Given the description of an element on the screen output the (x, y) to click on. 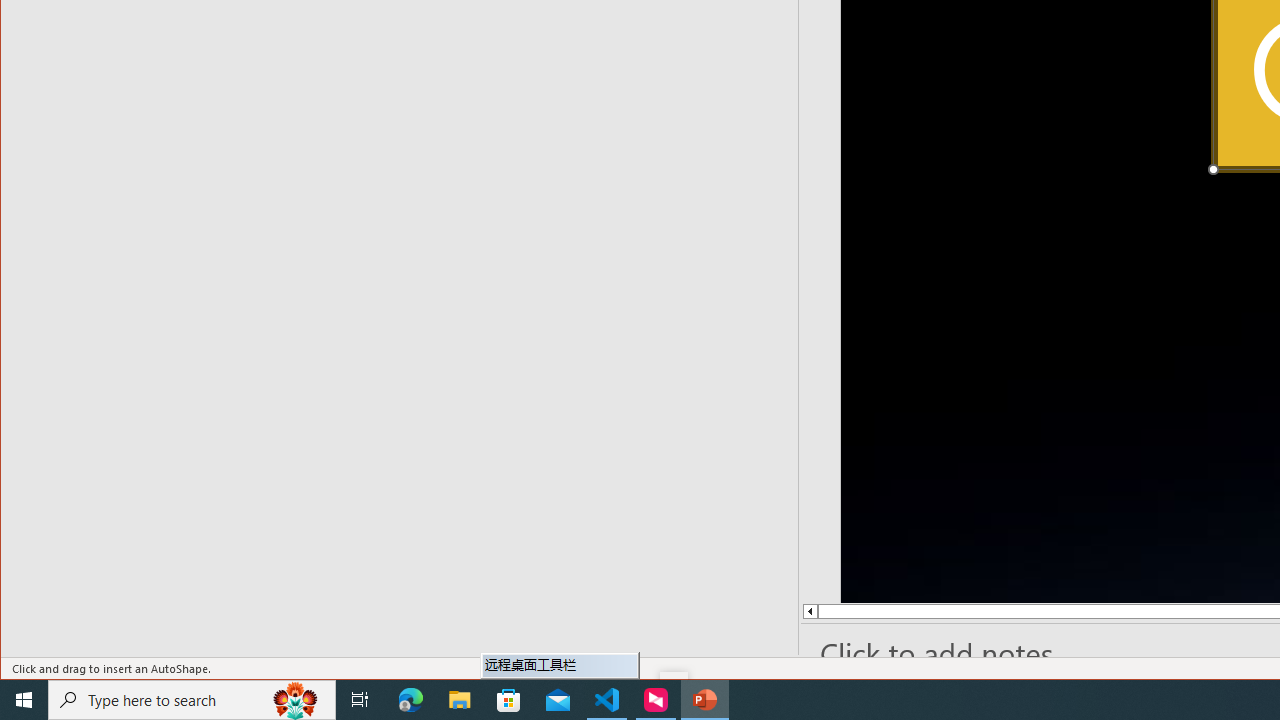
Microsoft Edge (411, 699)
